Given the description of an element on the screen output the (x, y) to click on. 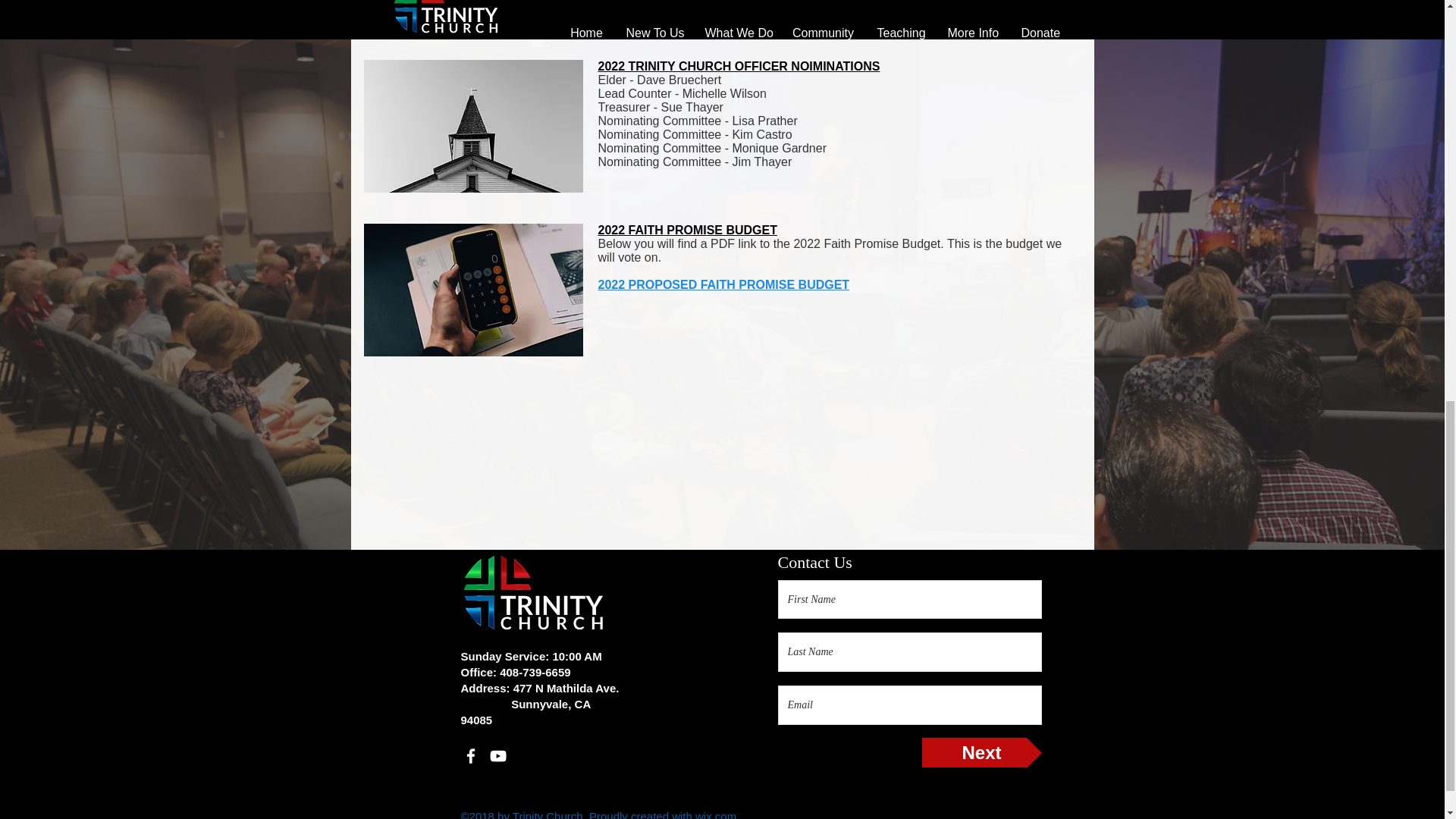
wix.com (715, 814)
2022 PROPOSED FAITH PROMISE BUDGET (722, 284)
Next (981, 752)
2022 ANNUAL ELECTIONS BALLOT (699, 12)
